Given the description of an element on the screen output the (x, y) to click on. 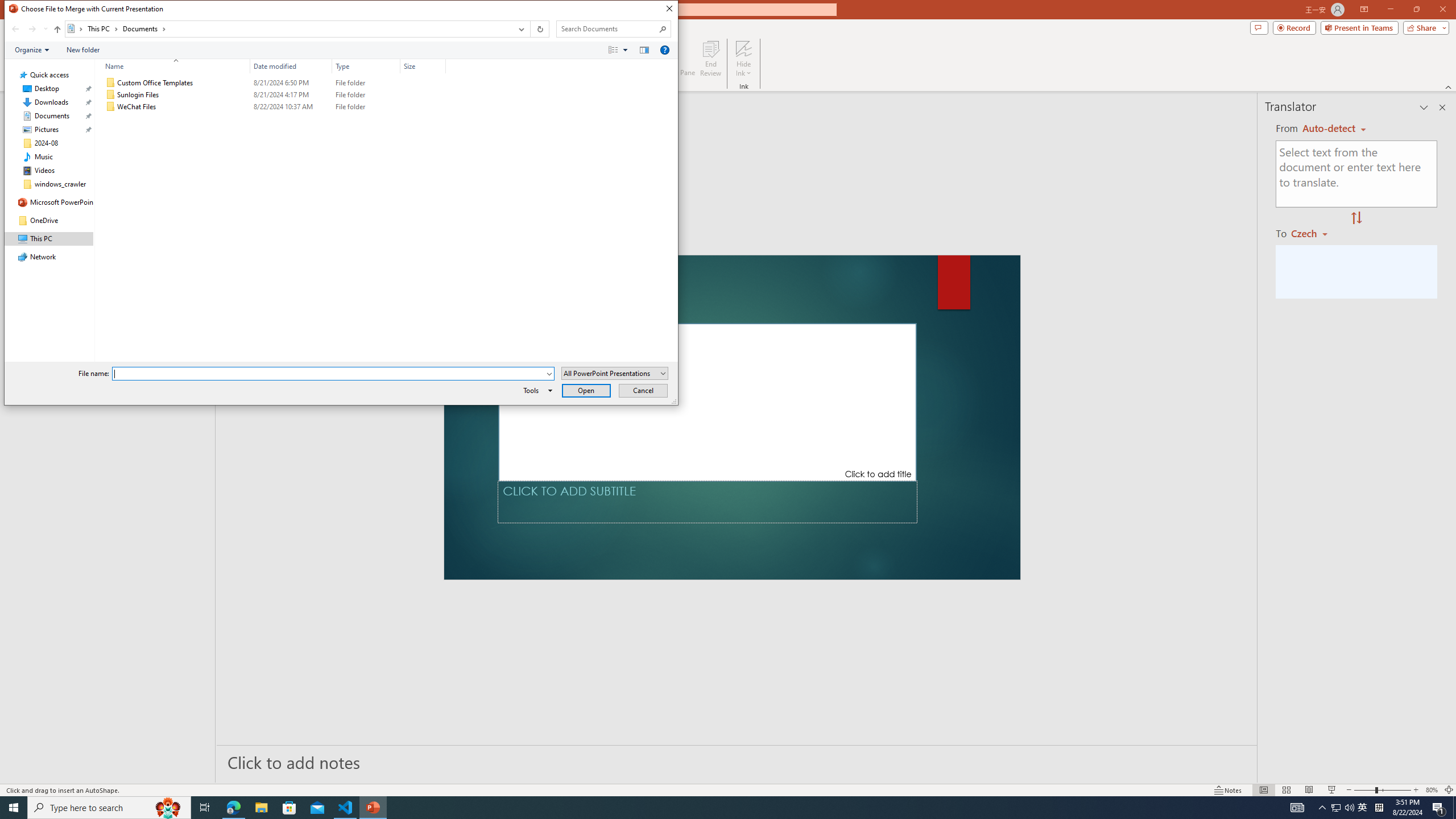
Forward (Alt + Right Arrow) (31, 28)
Name (173, 65)
Zoom 80% (1431, 790)
Refresh "Documents" (F5) (538, 28)
Czech (1313, 232)
Tools (535, 390)
Sunlogin Files (273, 94)
Recent locations (44, 28)
File name: (333, 373)
End Review (710, 58)
Type (365, 65)
Up to "This PC" (Alt + Up Arrow) (57, 29)
